Given the description of an element on the screen output the (x, y) to click on. 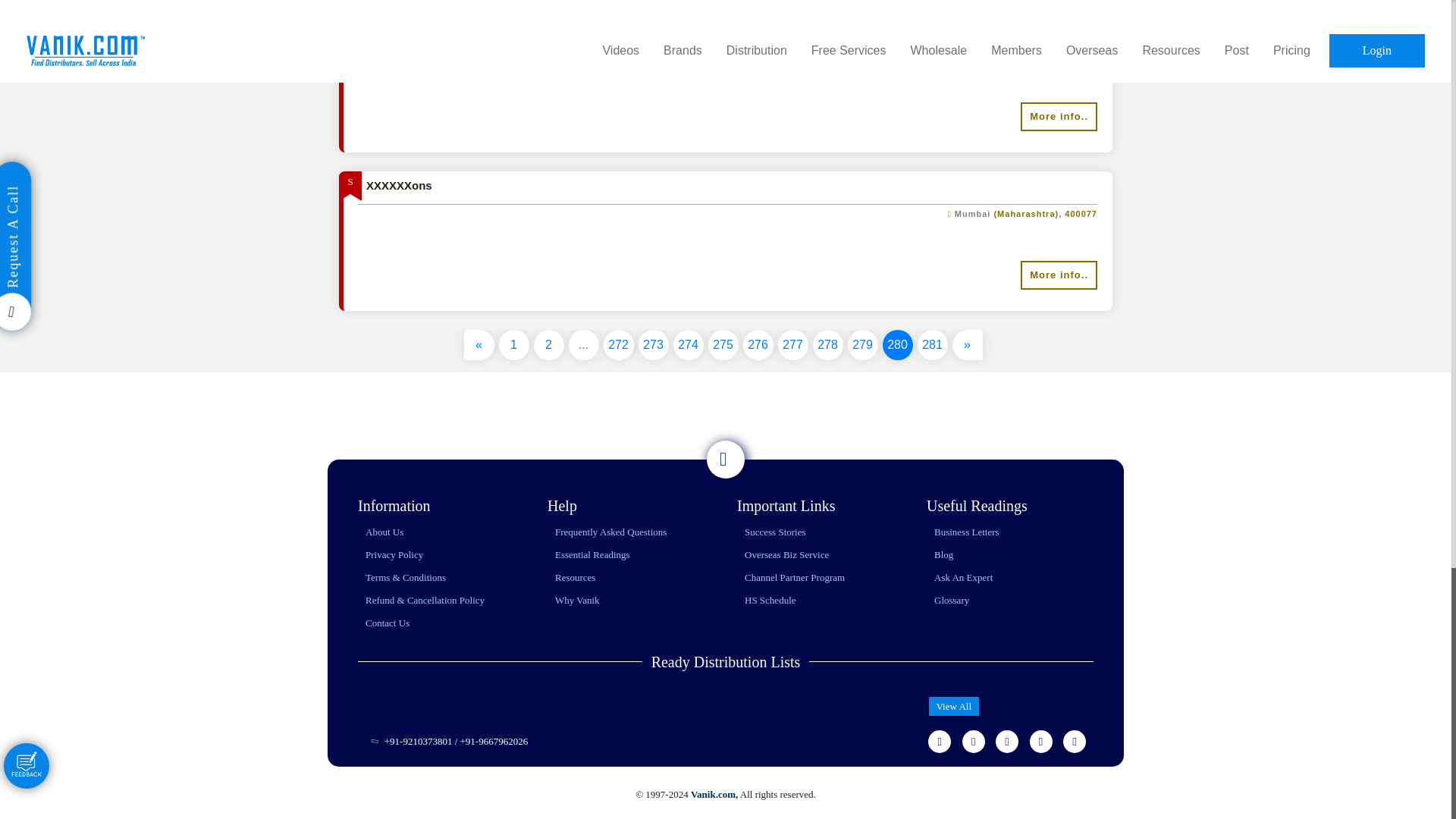
About Us (384, 531)
